Given the description of an element on the screen output the (x, y) to click on. 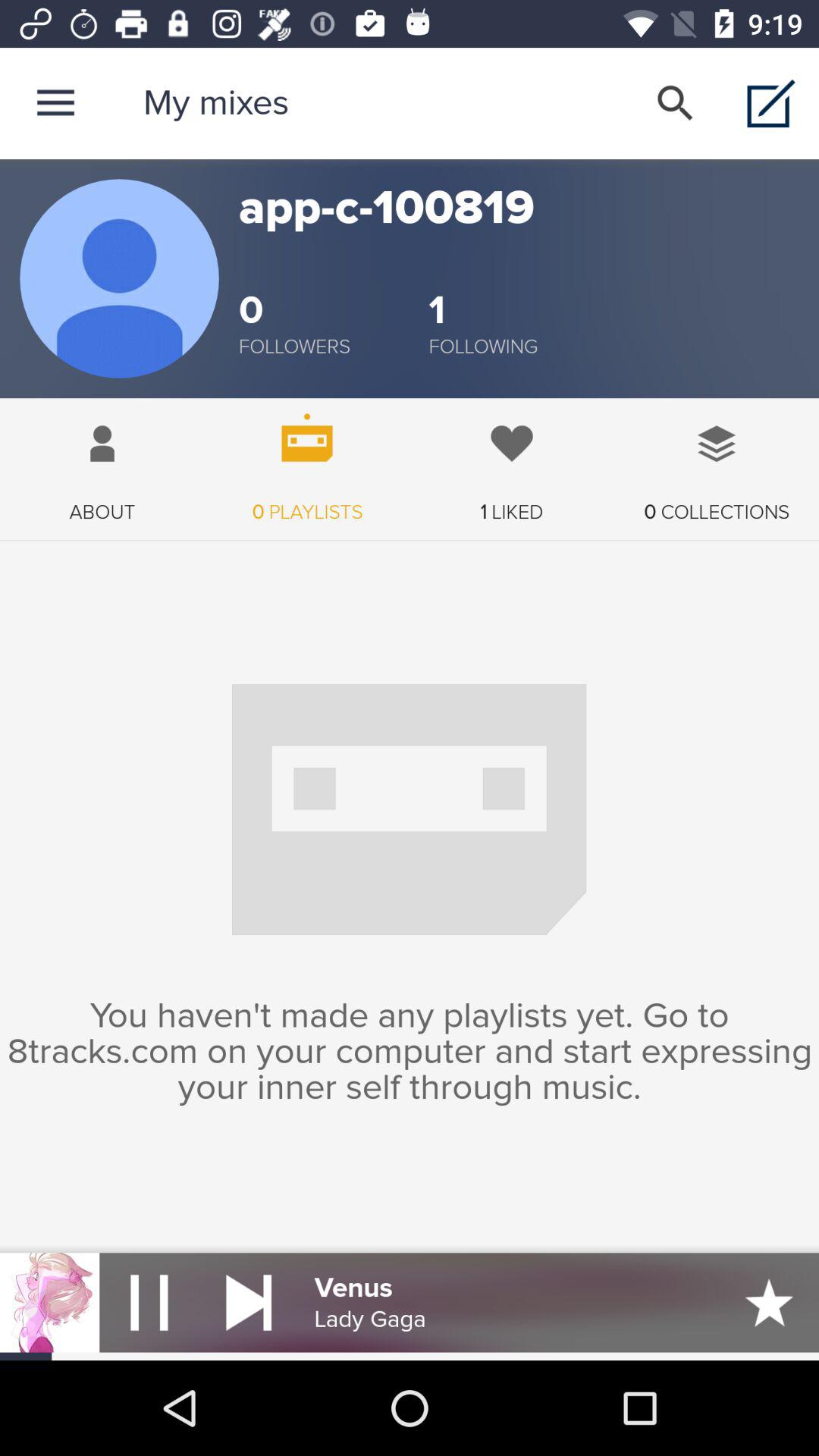
flip until the 1 liked app (511, 461)
